Given the description of an element on the screen output the (x, y) to click on. 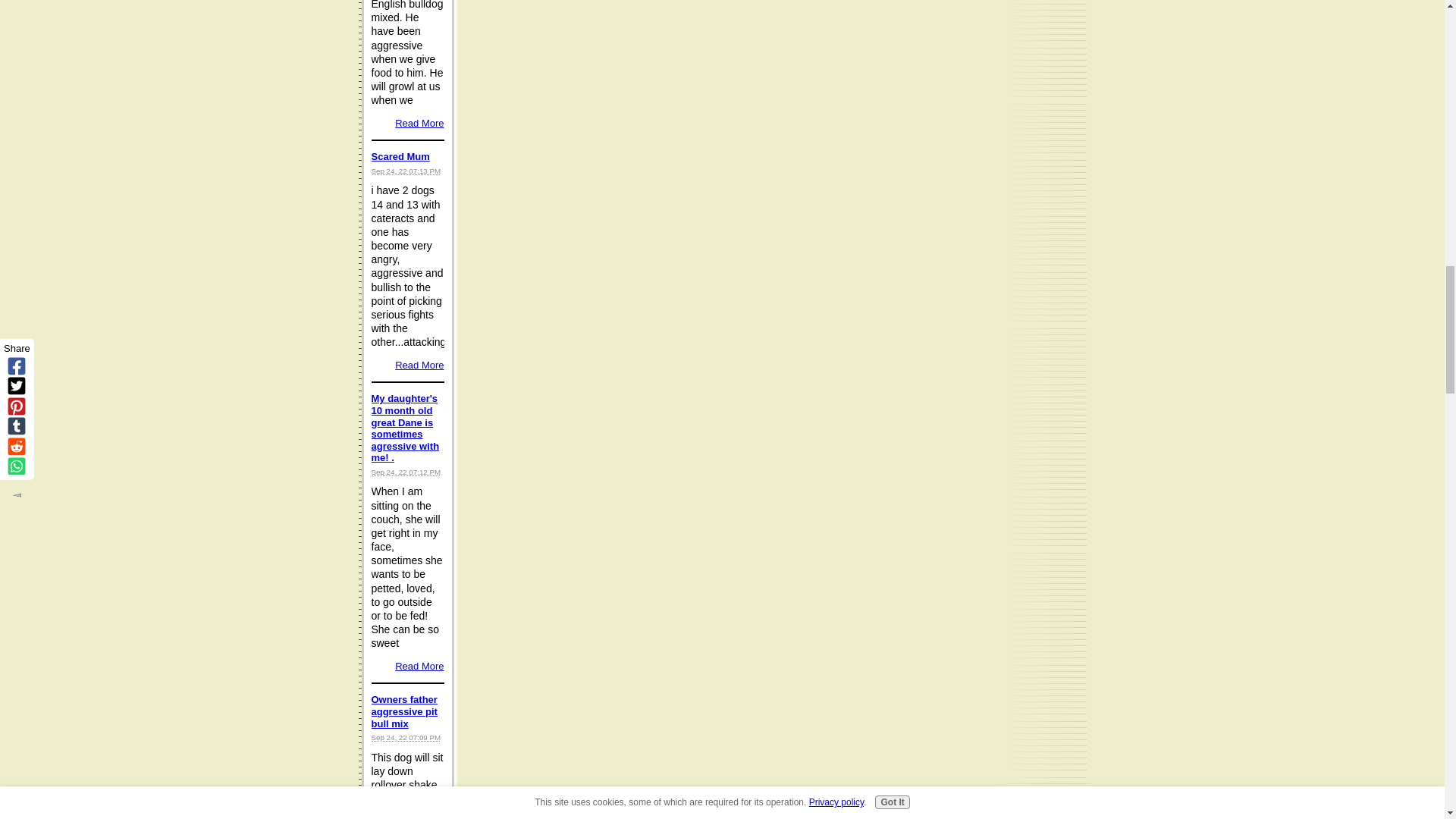
2022-09-24T19:13:53-0400 (406, 171)
2022-09-24T19:09:45-0400 (406, 737)
2022-09-24T19:12:38-0400 (406, 471)
